Given the description of an element on the screen output the (x, y) to click on. 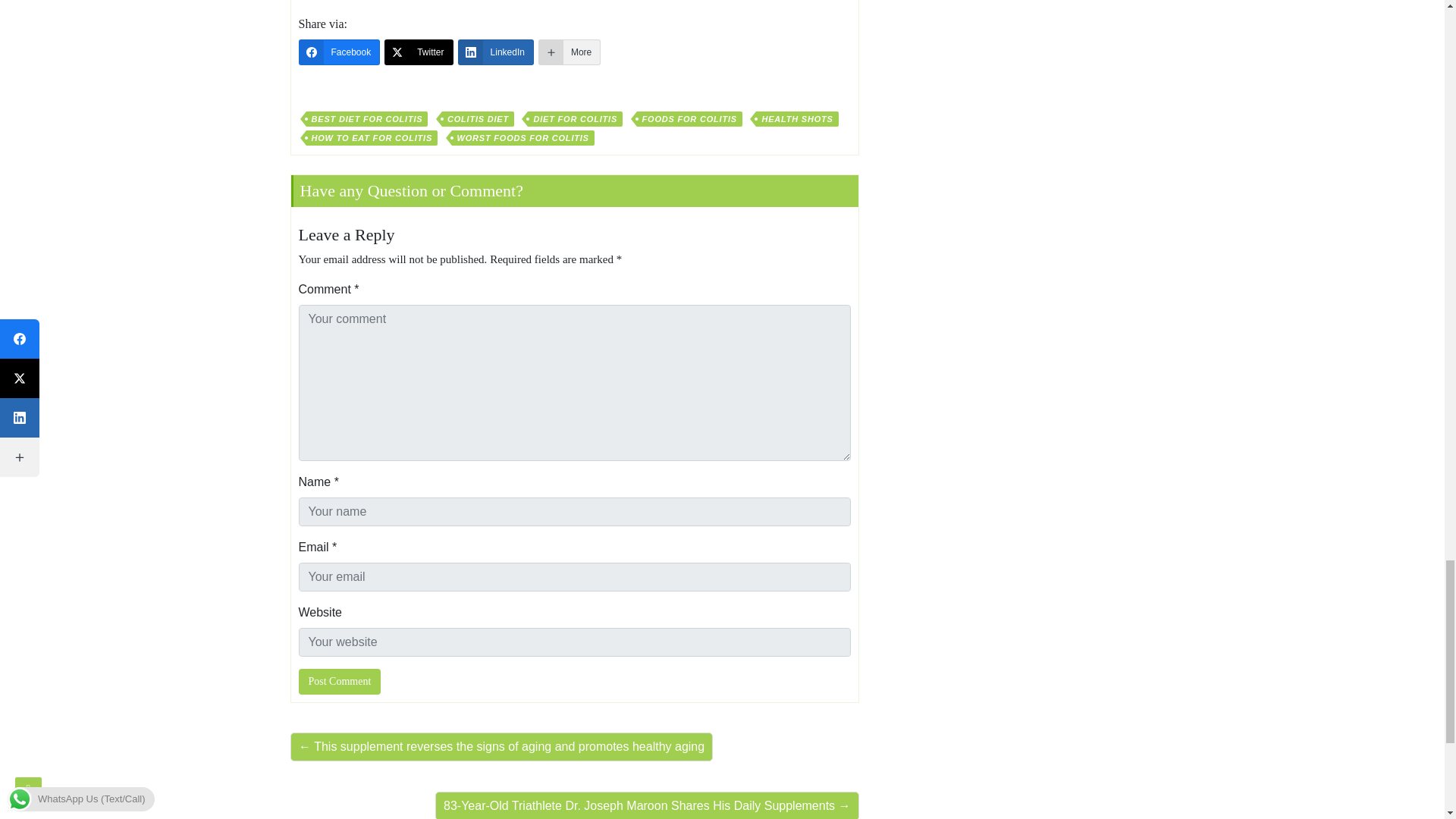
Post Comment (339, 681)
